Given the description of an element on the screen output the (x, y) to click on. 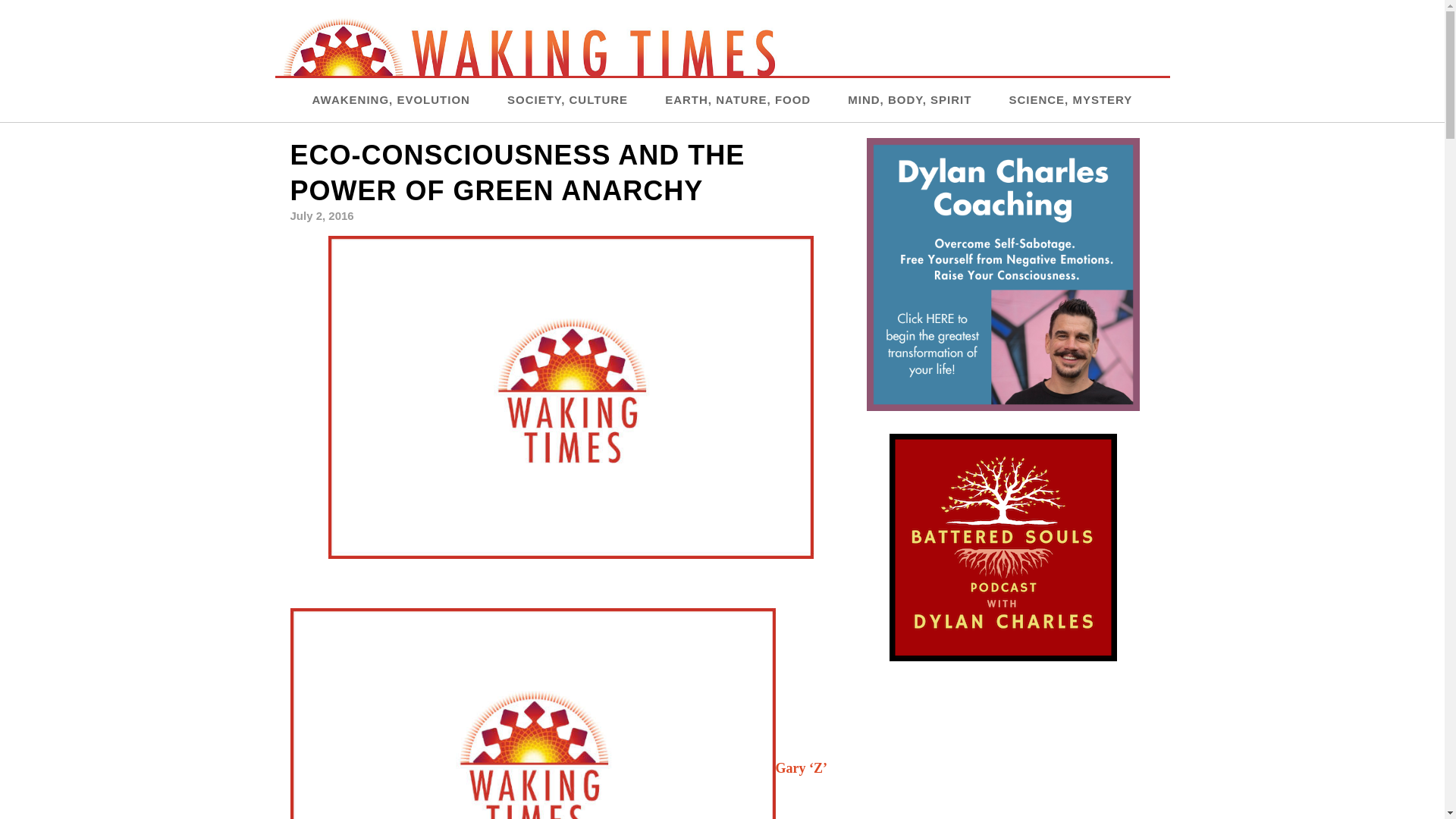
MIND, BODY, SPIRIT (909, 99)
SOCIETY, CULTURE (566, 99)
AWAKENING, EVOLUTION (391, 99)
Eco-Consciousness and the Power of Green Anarchy (569, 395)
SCIENCE, MYSTERY (1070, 99)
EARTH, NATURE, FOOD (737, 99)
